Given the description of an element on the screen output the (x, y) to click on. 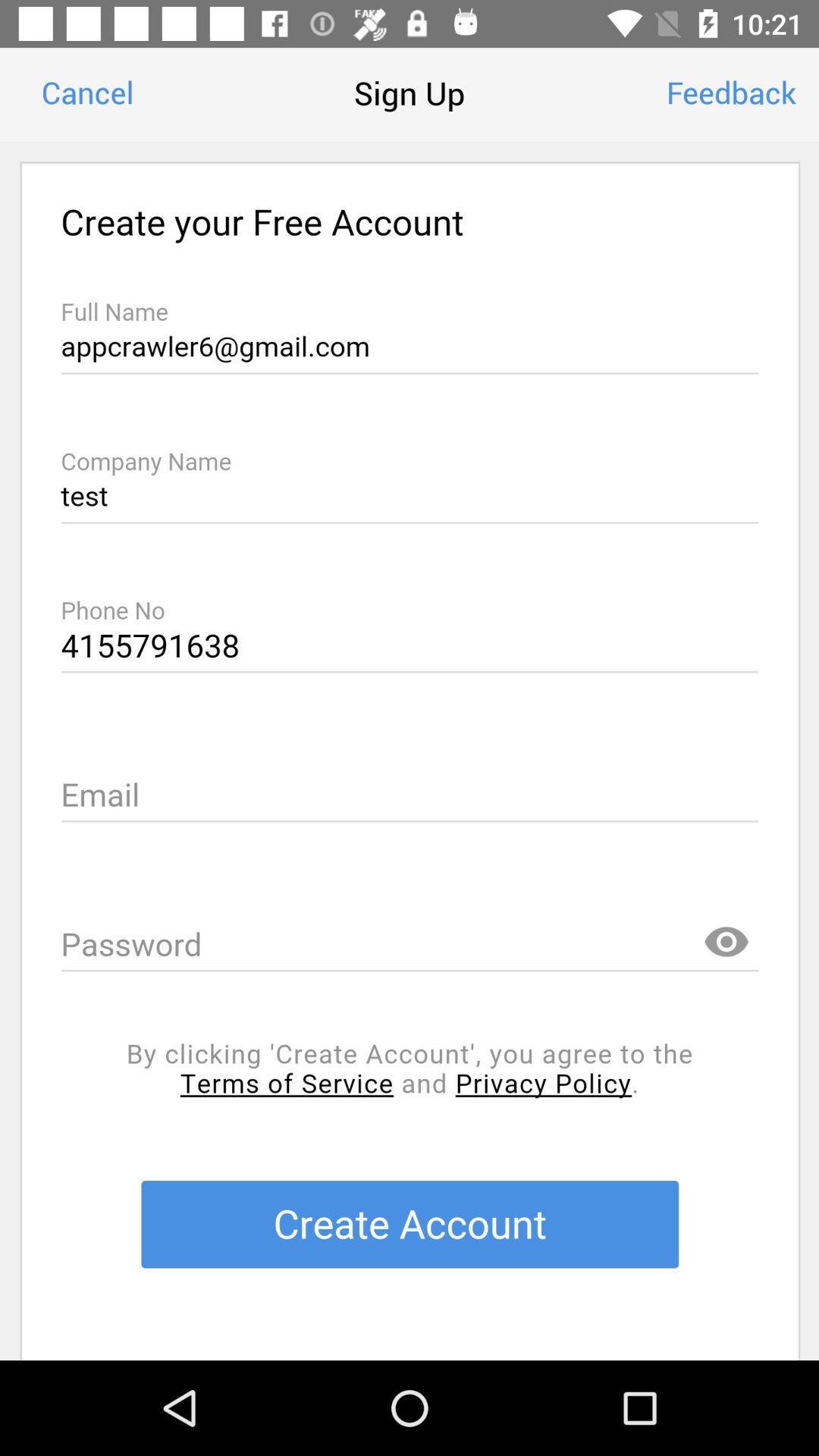
sign up button (409, 750)
